Given the description of an element on the screen output the (x, y) to click on. 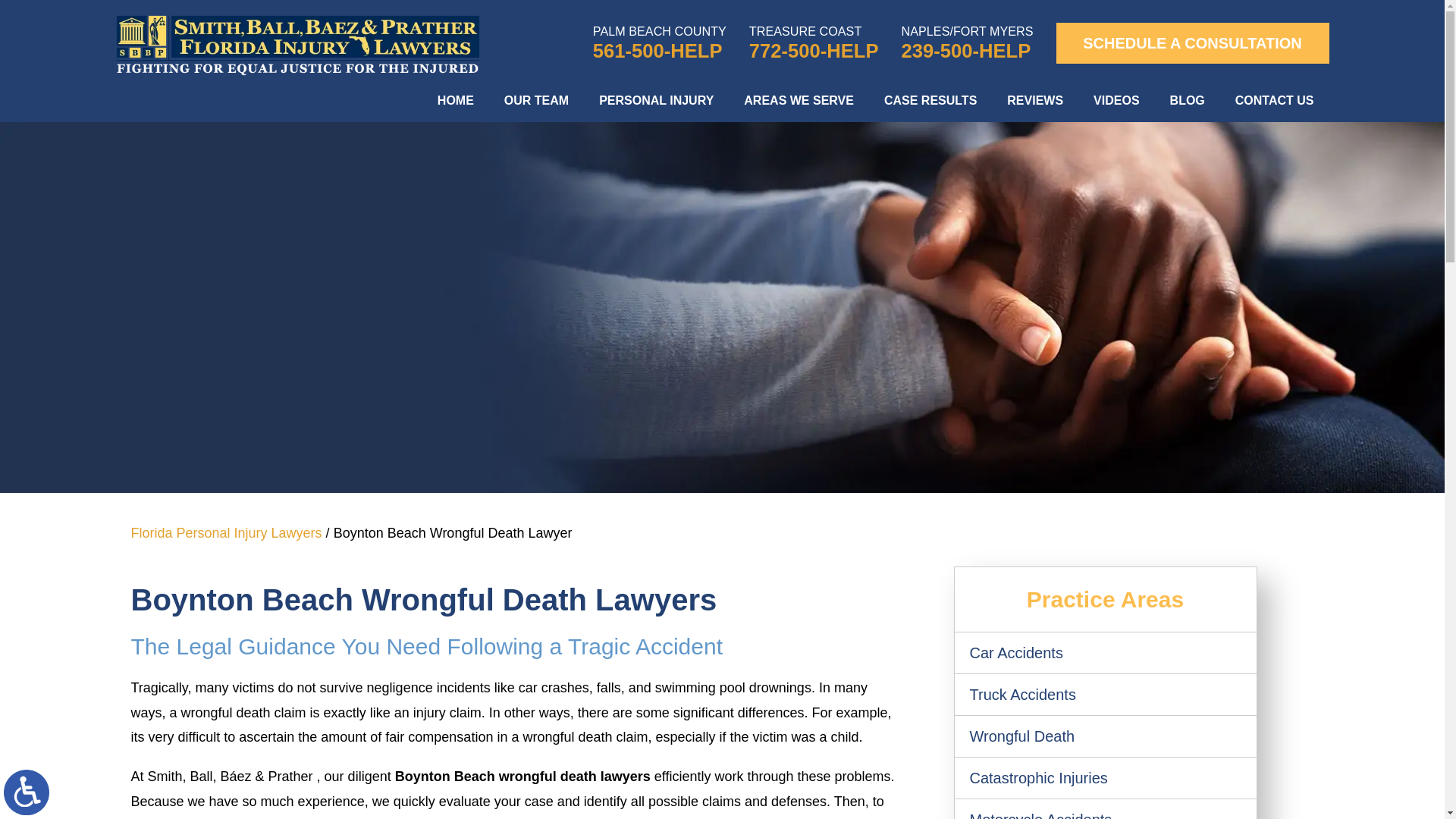
772-500-HELP (814, 51)
HOME (455, 100)
Switch to ADA Accessible Theme (26, 791)
OUR TEAM (536, 100)
PERSONAL INJURY (656, 100)
SCHEDULE A CONSULTATION (1191, 42)
561-500-HELP (659, 51)
239-500-HELP (967, 51)
